Given the description of an element on the screen output the (x, y) to click on. 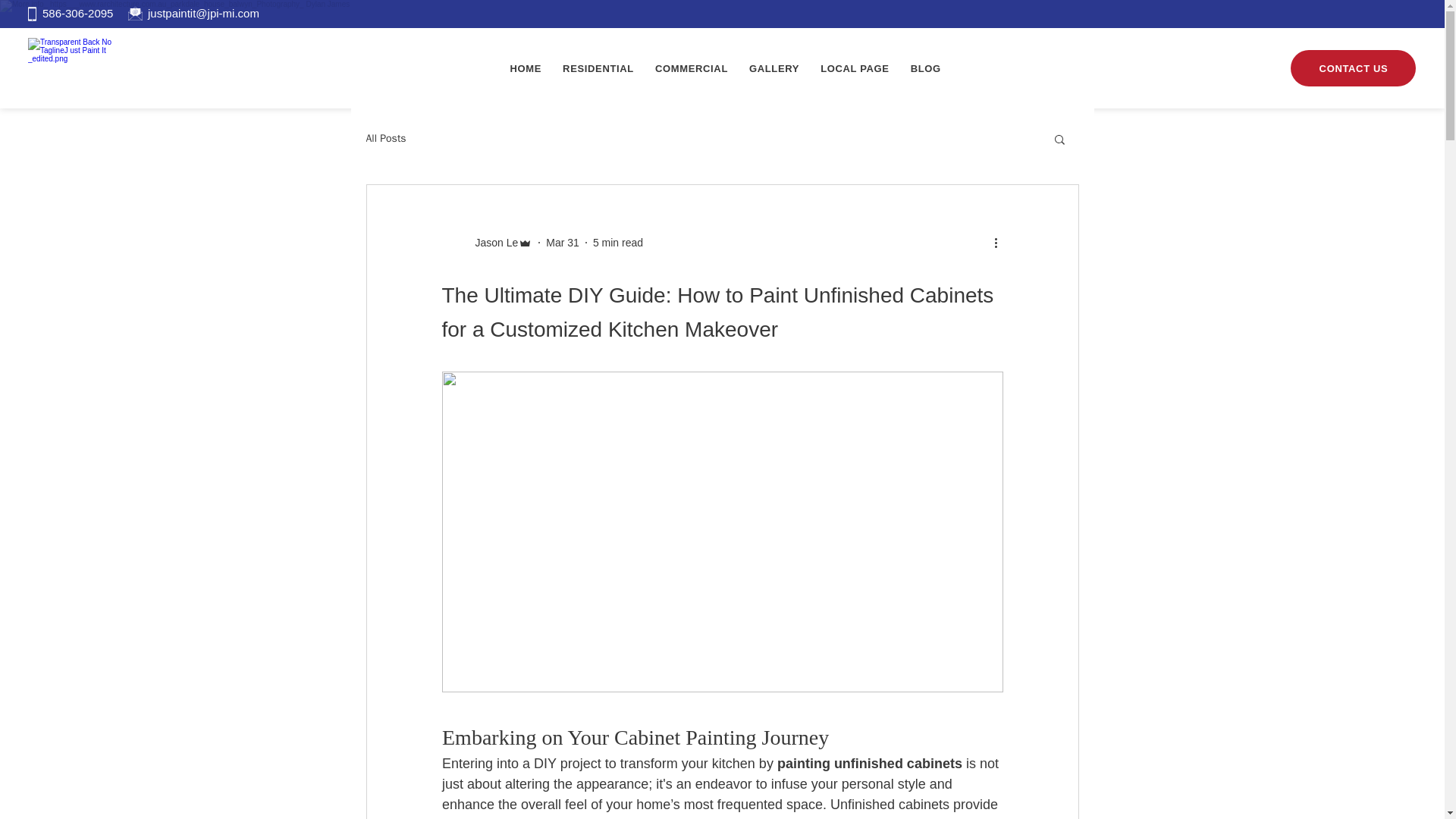
All Posts (385, 138)
Jason Le (486, 242)
BLOG (722, 68)
Mar 31 (925, 68)
Jason Le (562, 242)
LOCAL PAGE (491, 242)
5 min read (854, 68)
CONTACT US (617, 242)
HOME (1352, 67)
